Given the description of an element on the screen output the (x, y) to click on. 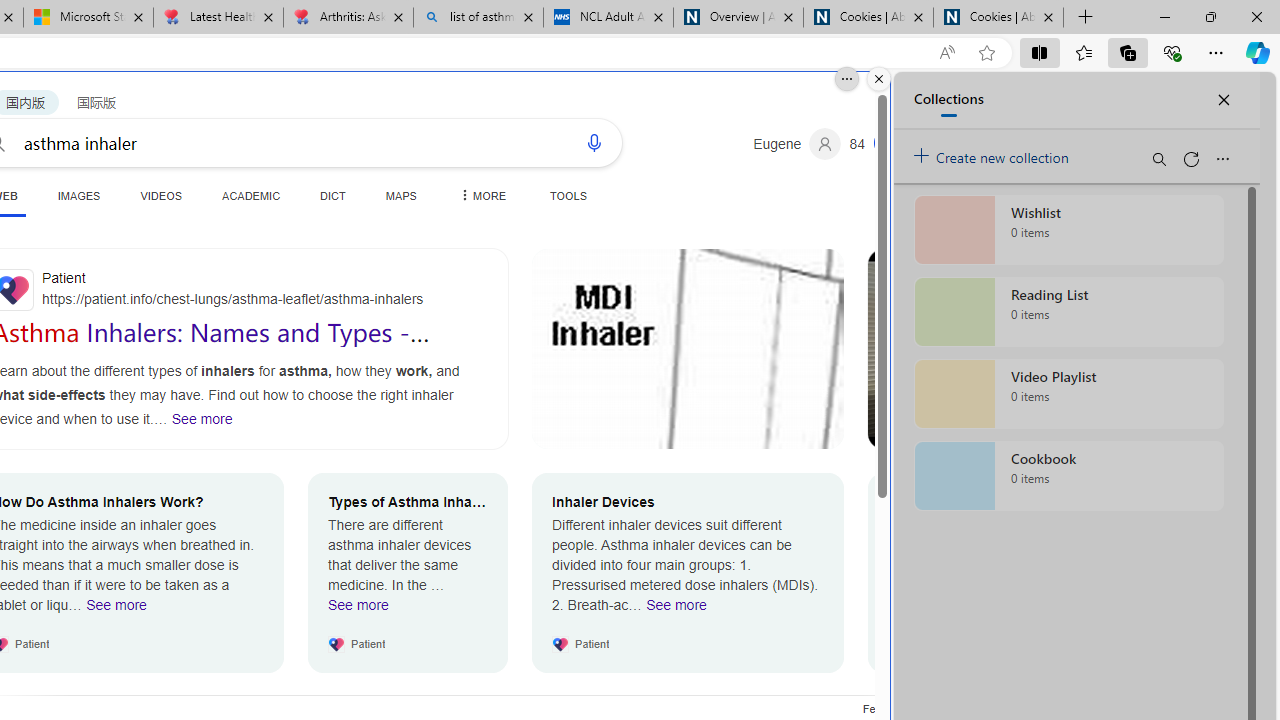
TOOLS (568, 195)
AutomationID: rh_meter (888, 142)
NCL Adult Asthma Inhaler Choice Guideline (608, 17)
IMAGES (78, 195)
More options. (846, 79)
MAPS (400, 195)
Arthritis: Ask Health Professionals (348, 17)
IMAGES (78, 195)
How to correctly use an asthma inhaler (1023, 349)
ACADEMIC (251, 195)
